Given the description of an element on the screen output the (x, y) to click on. 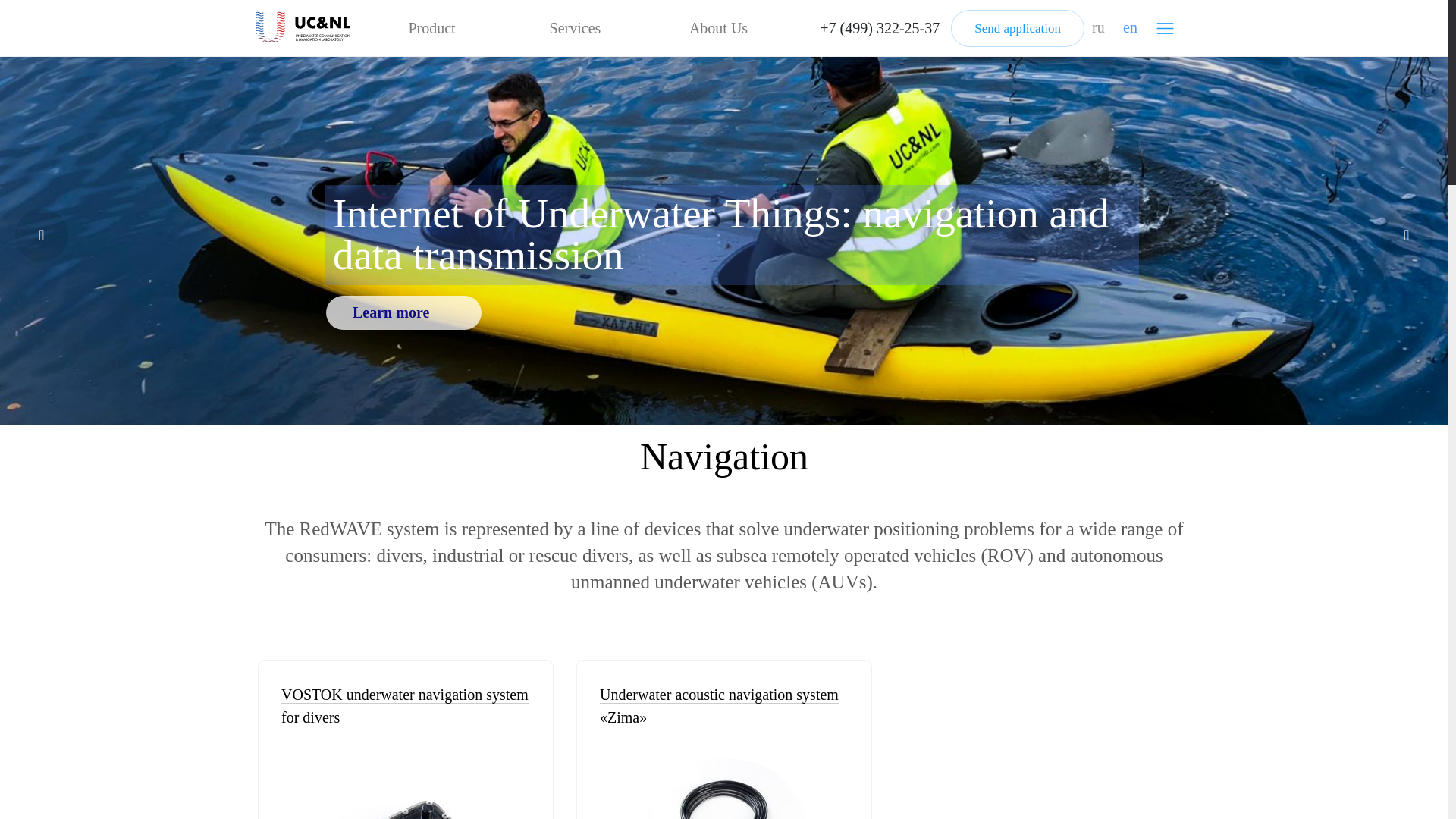
Services (574, 28)
Product (431, 28)
Send application (1017, 27)
VOSTOK underwater navigation system for divers (405, 789)
About Us (718, 28)
